Given the description of an element on the screen output the (x, y) to click on. 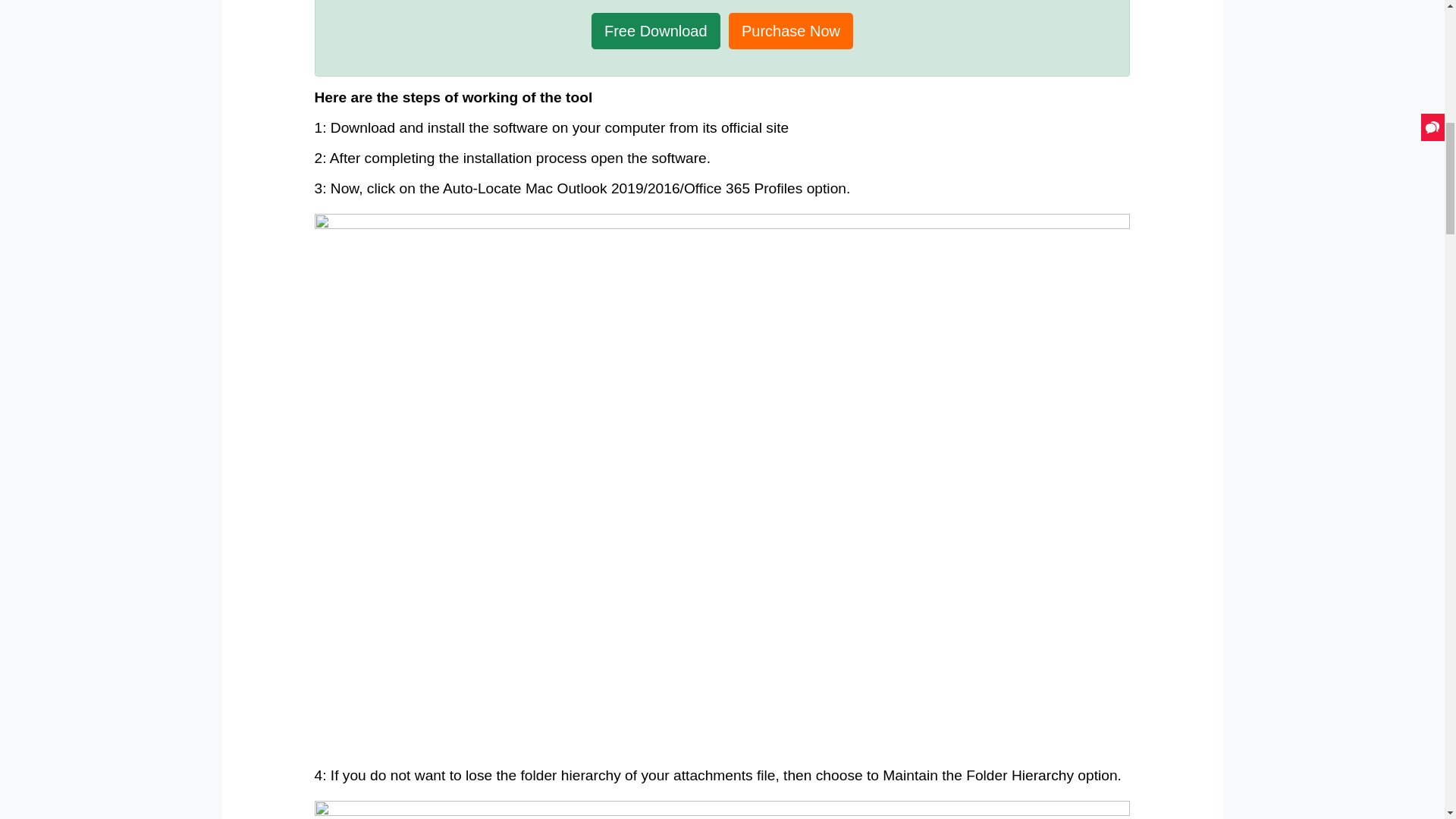
Purchase Now (791, 31)
Free Download (655, 31)
